Given the description of an element on the screen output the (x, y) to click on. 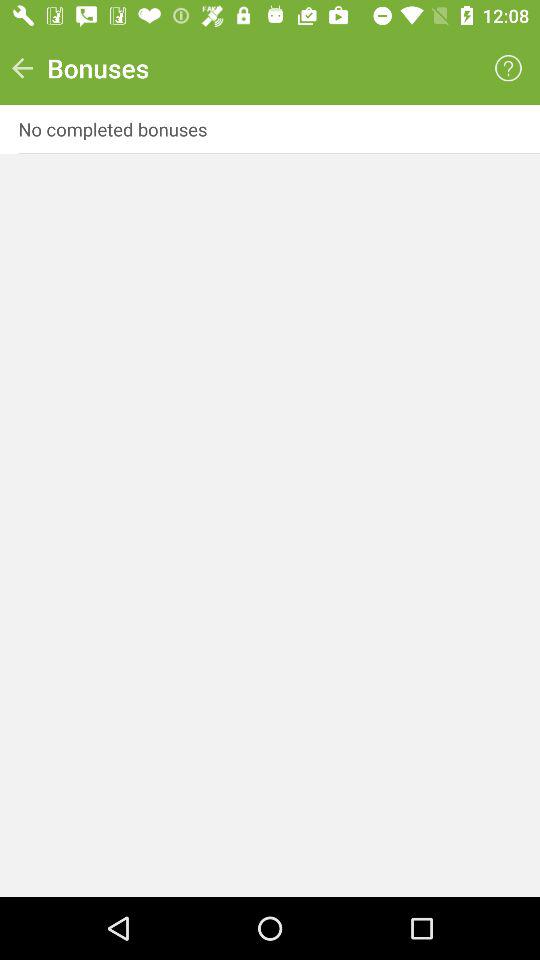
select icon next to bonuses item (22, 67)
